Given the description of an element on the screen output the (x, y) to click on. 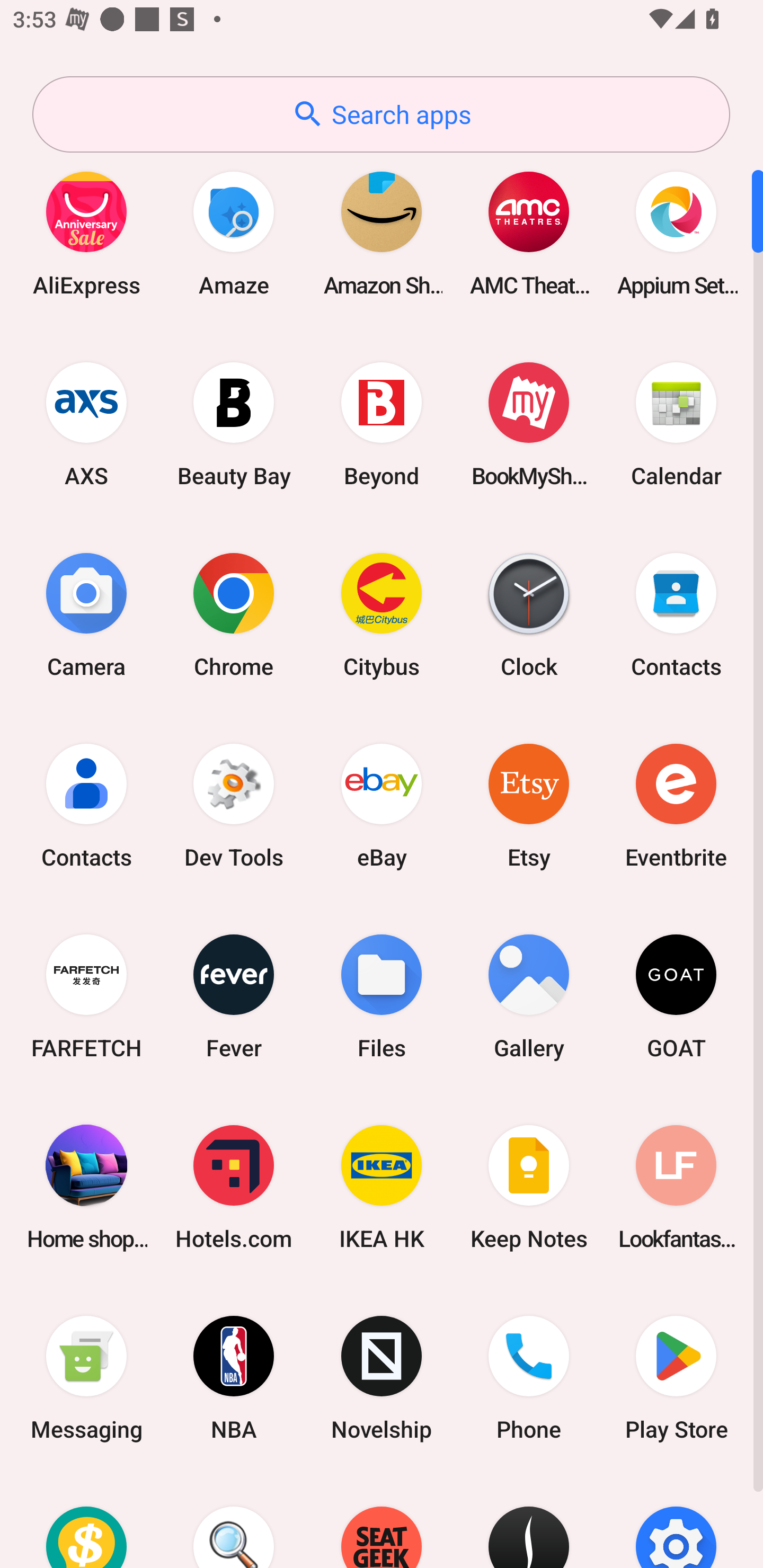
  Search apps (381, 114)
AliExpress (86, 233)
Amaze (233, 233)
Amazon Shopping (381, 233)
AMC Theatres (528, 233)
Appium Settings (676, 233)
AXS (86, 424)
Beauty Bay (233, 424)
Beyond (381, 424)
BookMyShow (528, 424)
Calendar (676, 424)
Camera (86, 614)
Chrome (233, 614)
Citybus (381, 614)
Clock (528, 614)
Contacts (676, 614)
Contacts (86, 805)
Dev Tools (233, 805)
eBay (381, 805)
Etsy (528, 805)
Eventbrite (676, 805)
FARFETCH (86, 996)
Fever (233, 996)
Files (381, 996)
Gallery (528, 996)
GOAT (676, 996)
Home shopping (86, 1186)
Hotels.com (233, 1186)
IKEA HK (381, 1186)
Keep Notes (528, 1186)
Lookfantastic (676, 1186)
Messaging (86, 1377)
NBA (233, 1377)
Novelship (381, 1377)
Phone (528, 1377)
Play Store (676, 1377)
Price (86, 1520)
Search (233, 1520)
SeatGeek (381, 1520)
Sephora (528, 1520)
Settings (676, 1520)
